Given the description of an element on the screen output the (x, y) to click on. 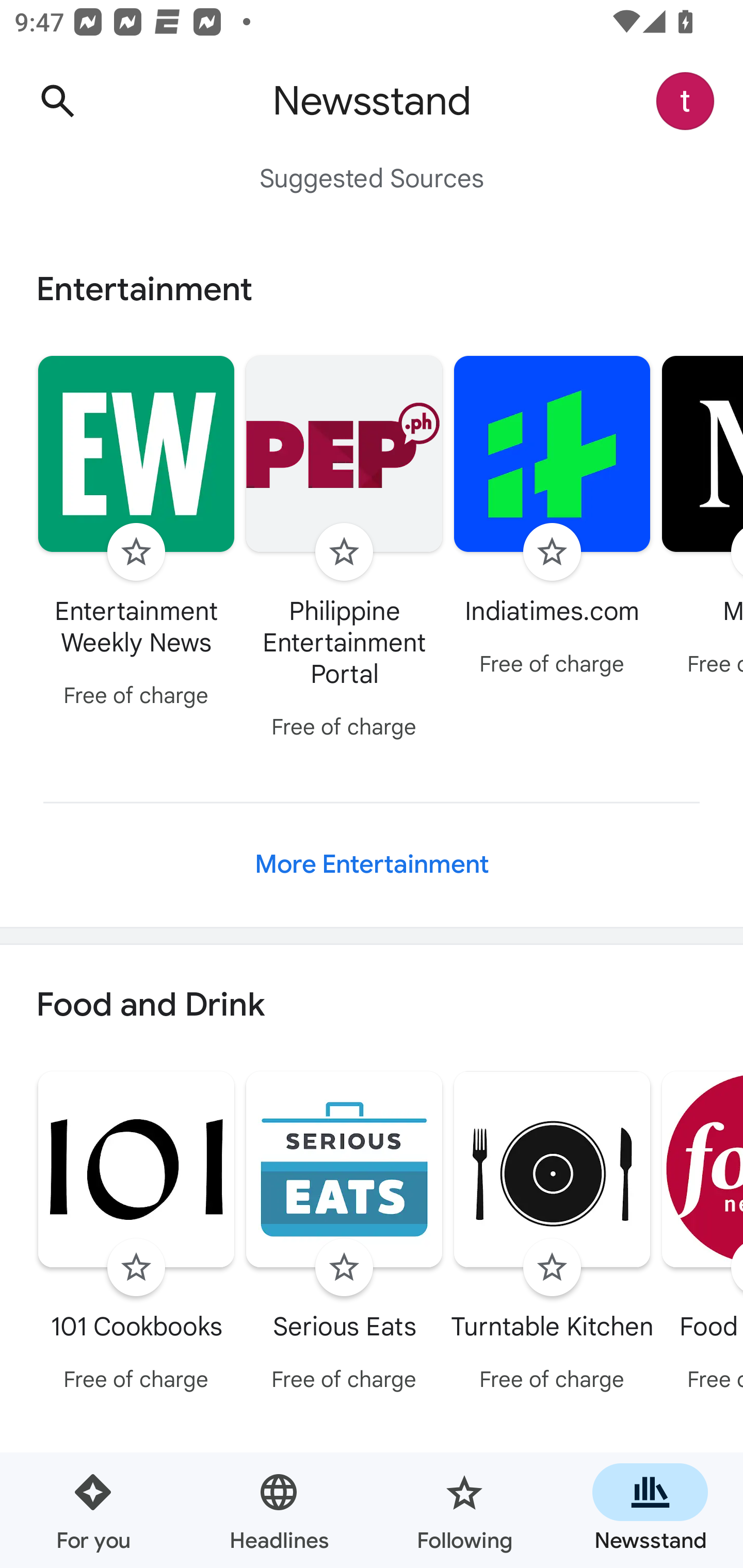
Search (57, 100)
Entertainment (371, 288)
Follow Entertainment Weekly News Free of charge (136, 534)
Follow Indiatimes.com Free of charge (552, 517)
Follow (135, 551)
Follow (343, 551)
Follow (552, 551)
More Entertainment (371, 864)
Food and Drink (371, 1005)
Follow 101 Cookbooks Free of charge (136, 1234)
Follow Serious Eats Free of charge (344, 1234)
Follow Turntable Kitchen Free of charge (552, 1234)
Follow (135, 1267)
Follow (343, 1267)
Follow (552, 1267)
For you (92, 1509)
Headlines (278, 1509)
Following (464, 1509)
Newsstand (650, 1509)
